Given the description of an element on the screen output the (x, y) to click on. 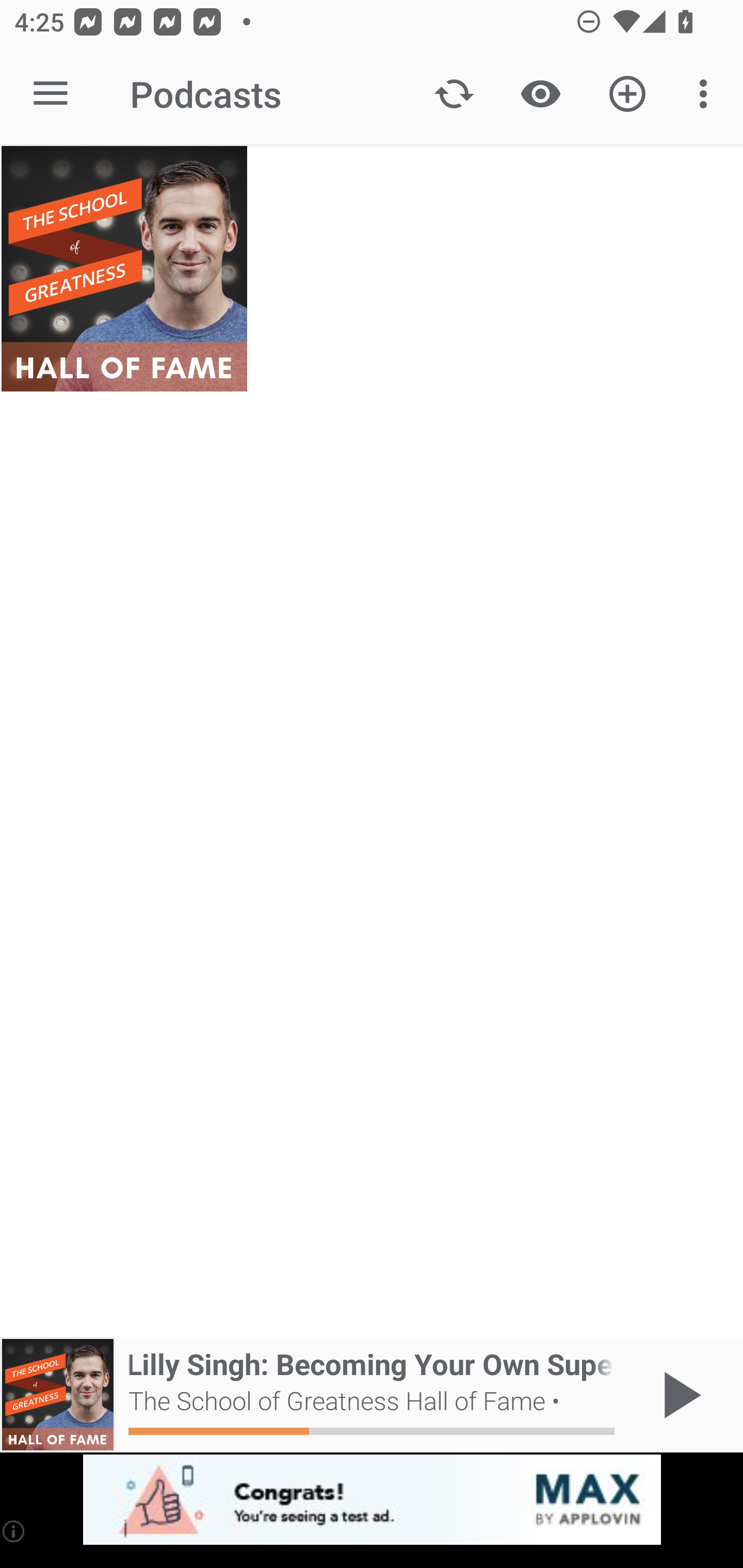
Open navigation sidebar (50, 93)
Update (453, 93)
Show / Hide played content (540, 93)
Add new Podcast (626, 93)
More options (706, 93)
The School of Greatness Hall of Fame (124, 268)
Play / Pause (677, 1394)
app-monetization (371, 1500)
(i) (14, 1531)
